Given the description of an element on the screen output the (x, y) to click on. 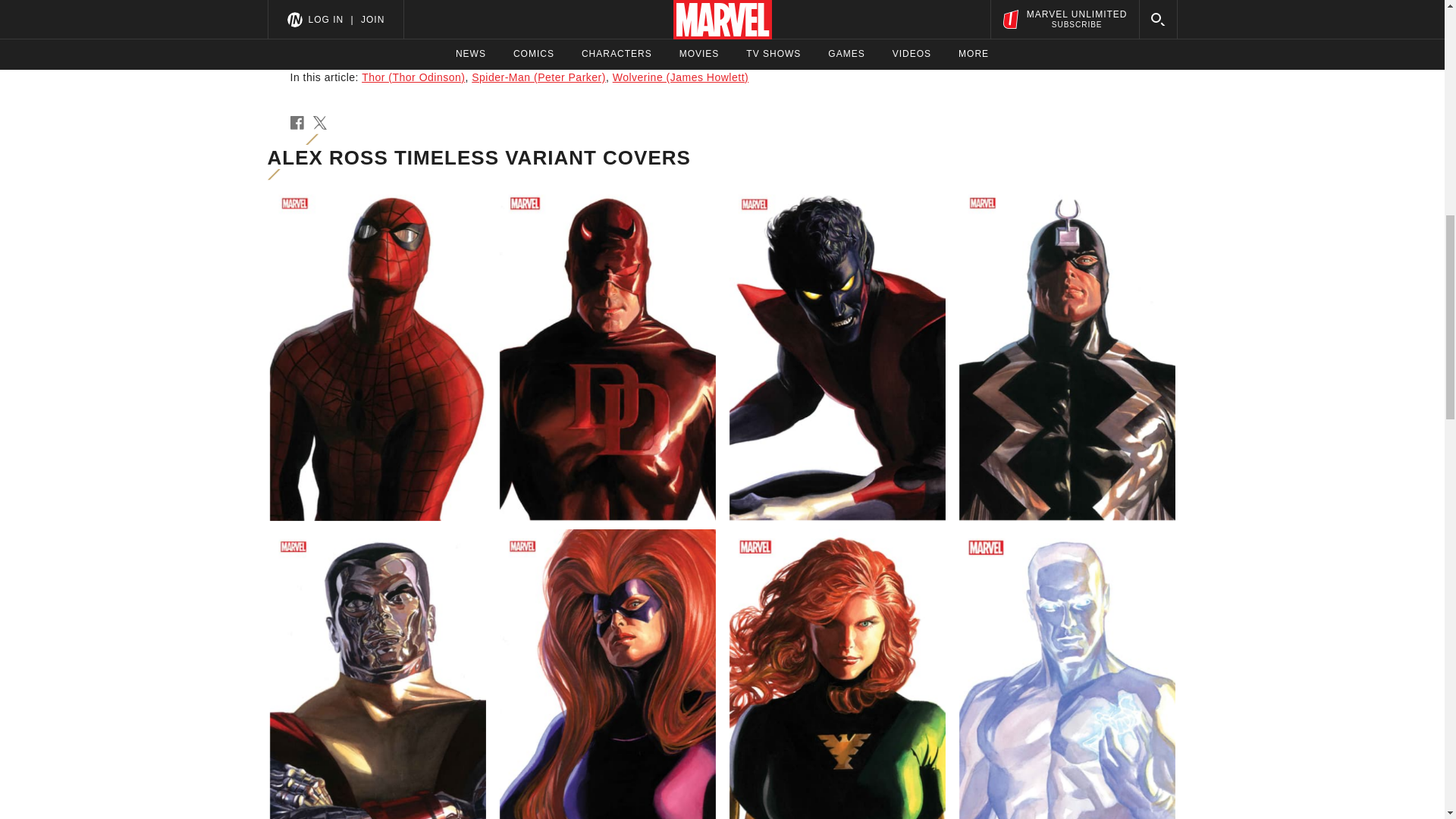
ComicShopLocator.com (531, 30)
